Given the description of an element on the screen output the (x, y) to click on. 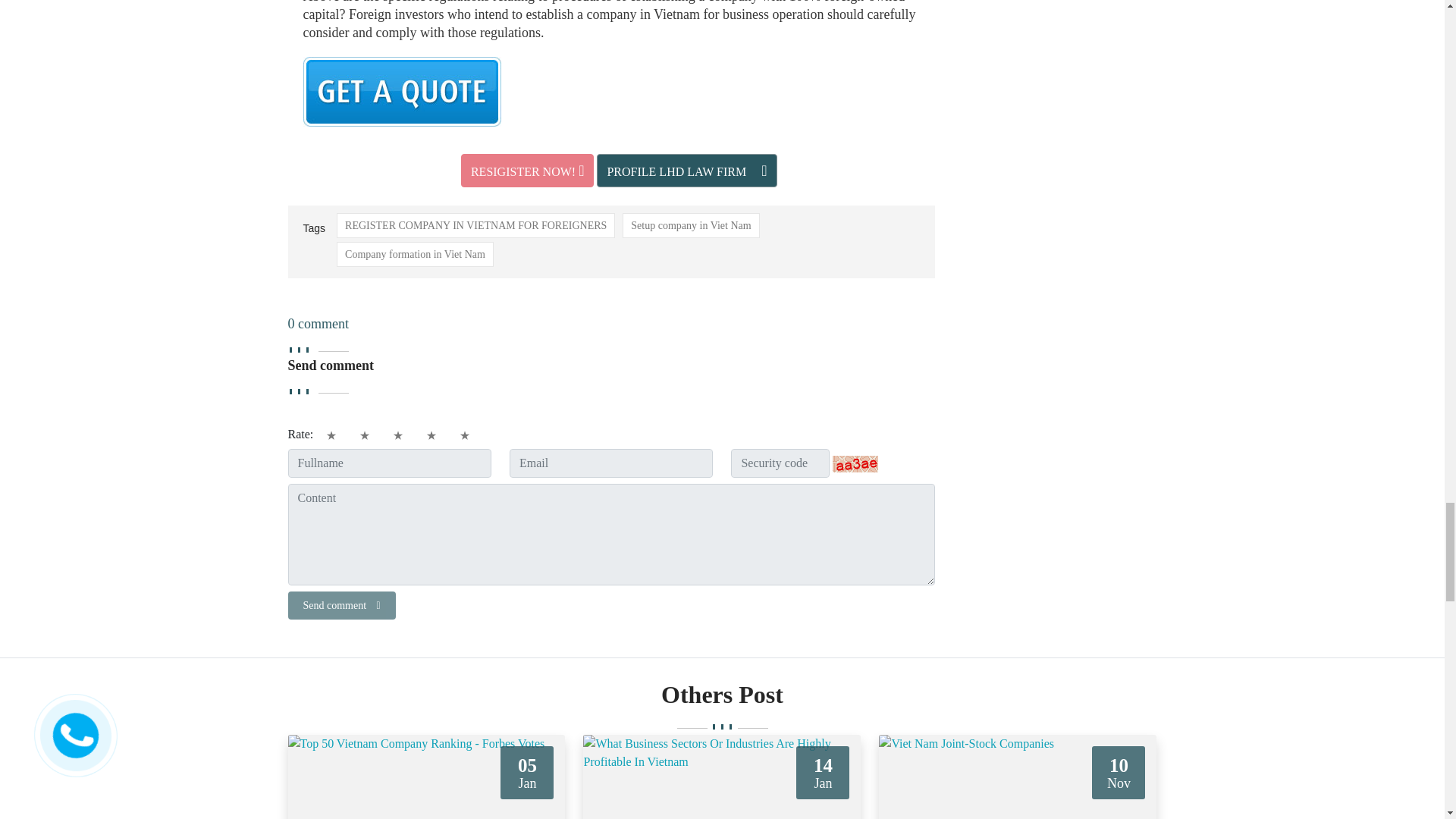
 Setup company in Viet Nam (690, 225)
REGISTER COMPANY IN VIETNAM FOR FOREIGNERS (475, 225)
 Company formation in Viet Nam (414, 253)
